Given the description of an element on the screen output the (x, y) to click on. 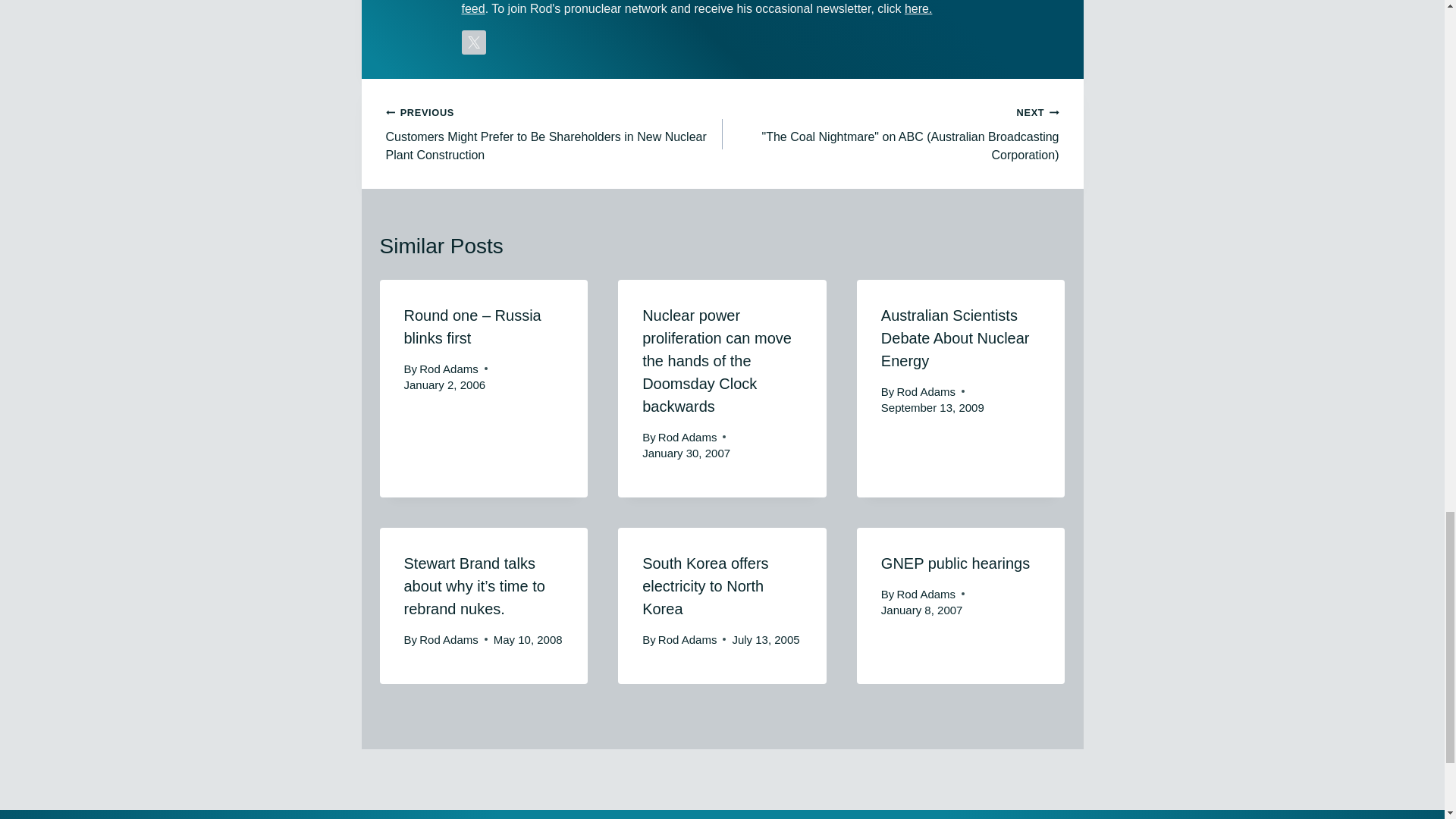
here. (917, 8)
Follow Rod Adams on X formerly Twitter (472, 42)
Rod Adams (926, 594)
GNEP public hearings (954, 563)
Rod Adams (926, 391)
Rod Adams (687, 436)
Rod Adams (449, 368)
Australian Scientists Debate About Nuclear Energy (954, 338)
